Given the description of an element on the screen output the (x, y) to click on. 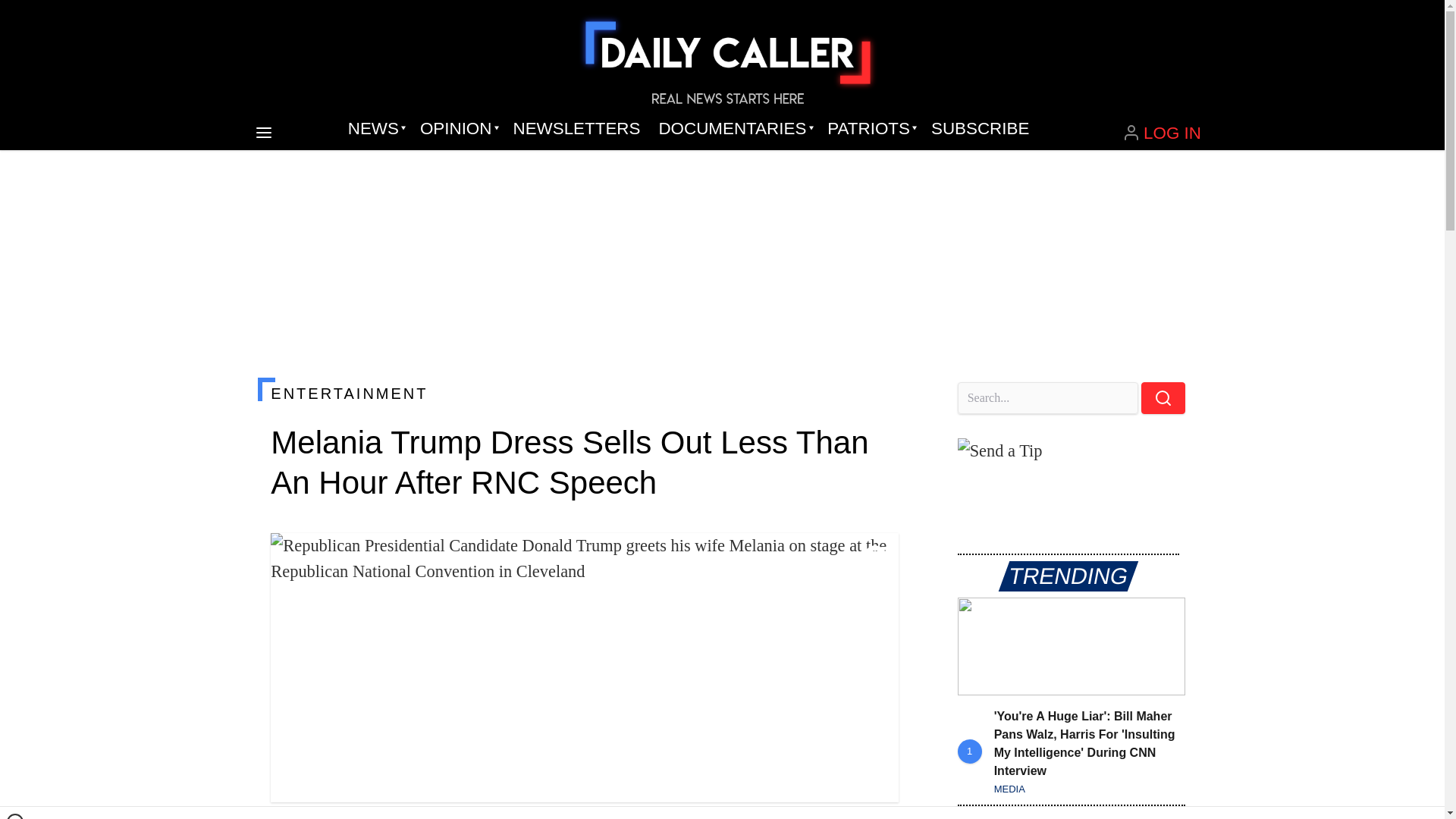
NEWS (374, 128)
NEWSLETTERS (576, 128)
PATRIOTS (869, 128)
Close window (14, 816)
DOCUMENTARIES (733, 128)
ENTERTAINMENT (584, 393)
Toggle fullscreen (874, 556)
OPINION (456, 128)
